Given the description of an element on the screen output the (x, y) to click on. 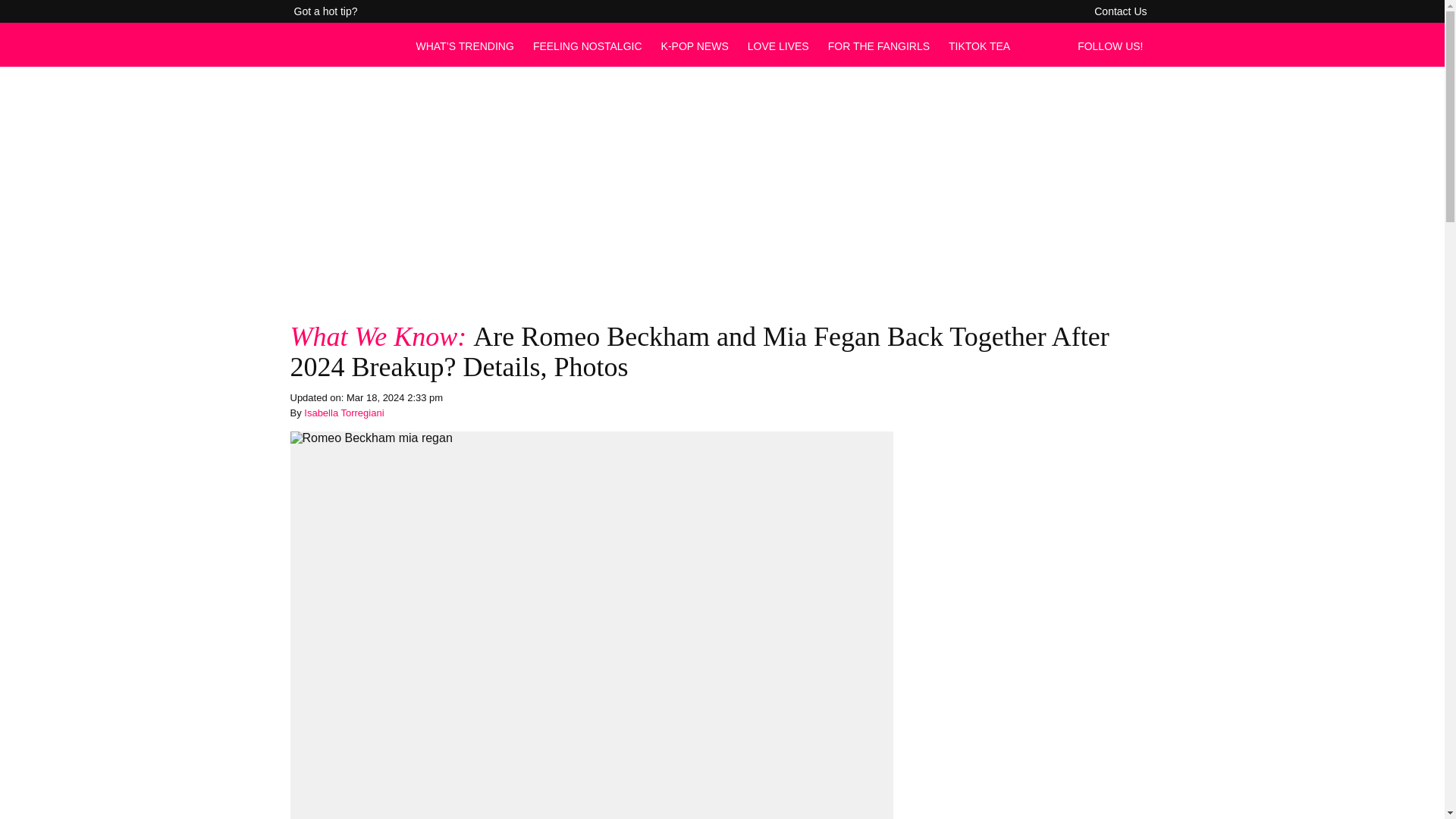
TIKTOK TEA (979, 46)
FOR THE FANGIRLS (879, 46)
Got a hot tip? (325, 11)
Isabella Torregiani (344, 412)
Contact Us (1120, 11)
LOVE LIVES (778, 46)
FOLLOW US! (1114, 45)
K-POP NEWS (695, 46)
Posts by Isabella Torregiani (344, 412)
Home (343, 52)
